Given the description of an element on the screen output the (x, y) to click on. 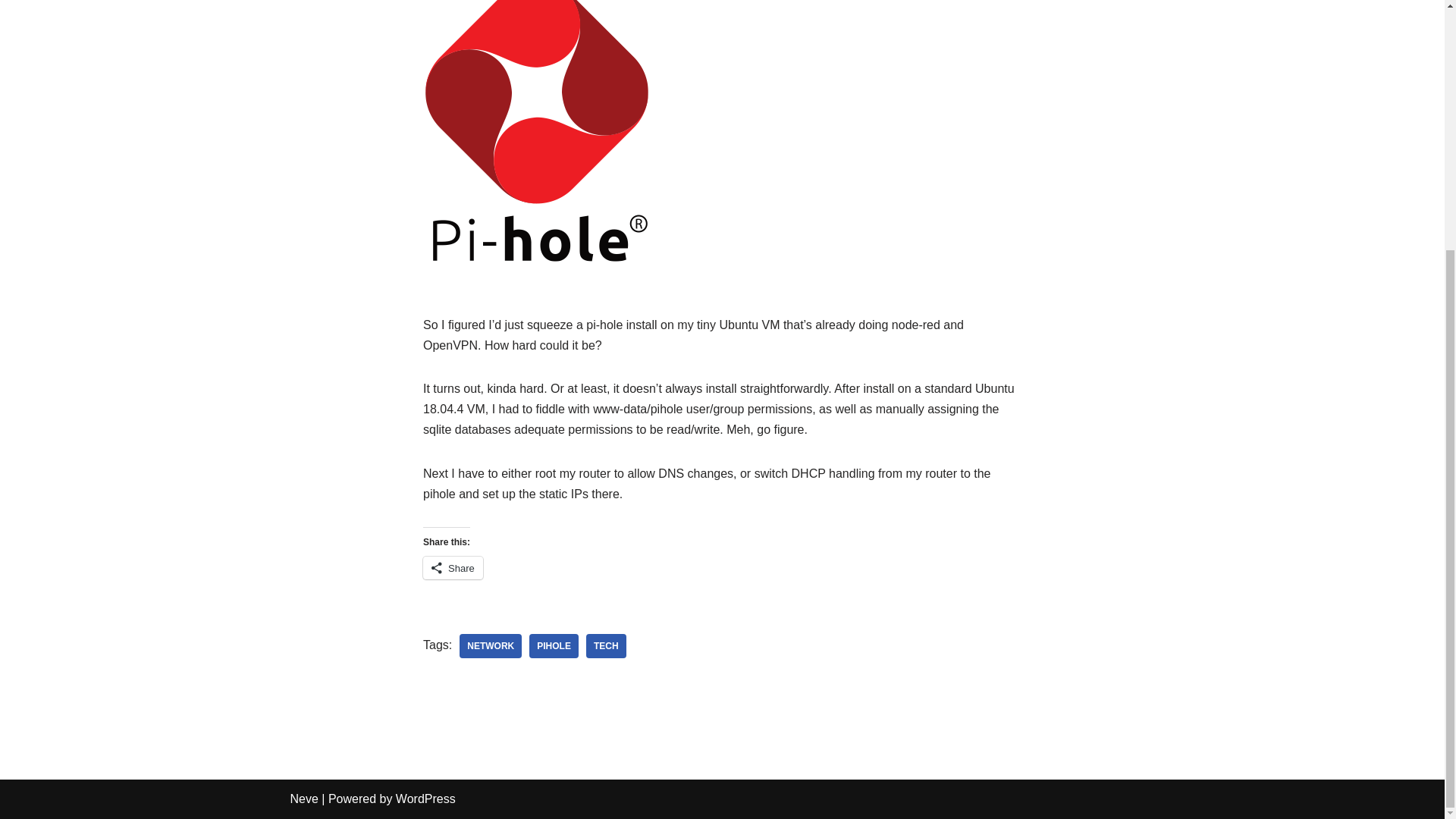
TECH (606, 645)
WordPress (425, 798)
pihole (553, 645)
tech (606, 645)
Neve (303, 798)
Share (453, 567)
PIHOLE (553, 645)
NETWORK (490, 645)
network (490, 645)
